Given the description of an element on the screen output the (x, y) to click on. 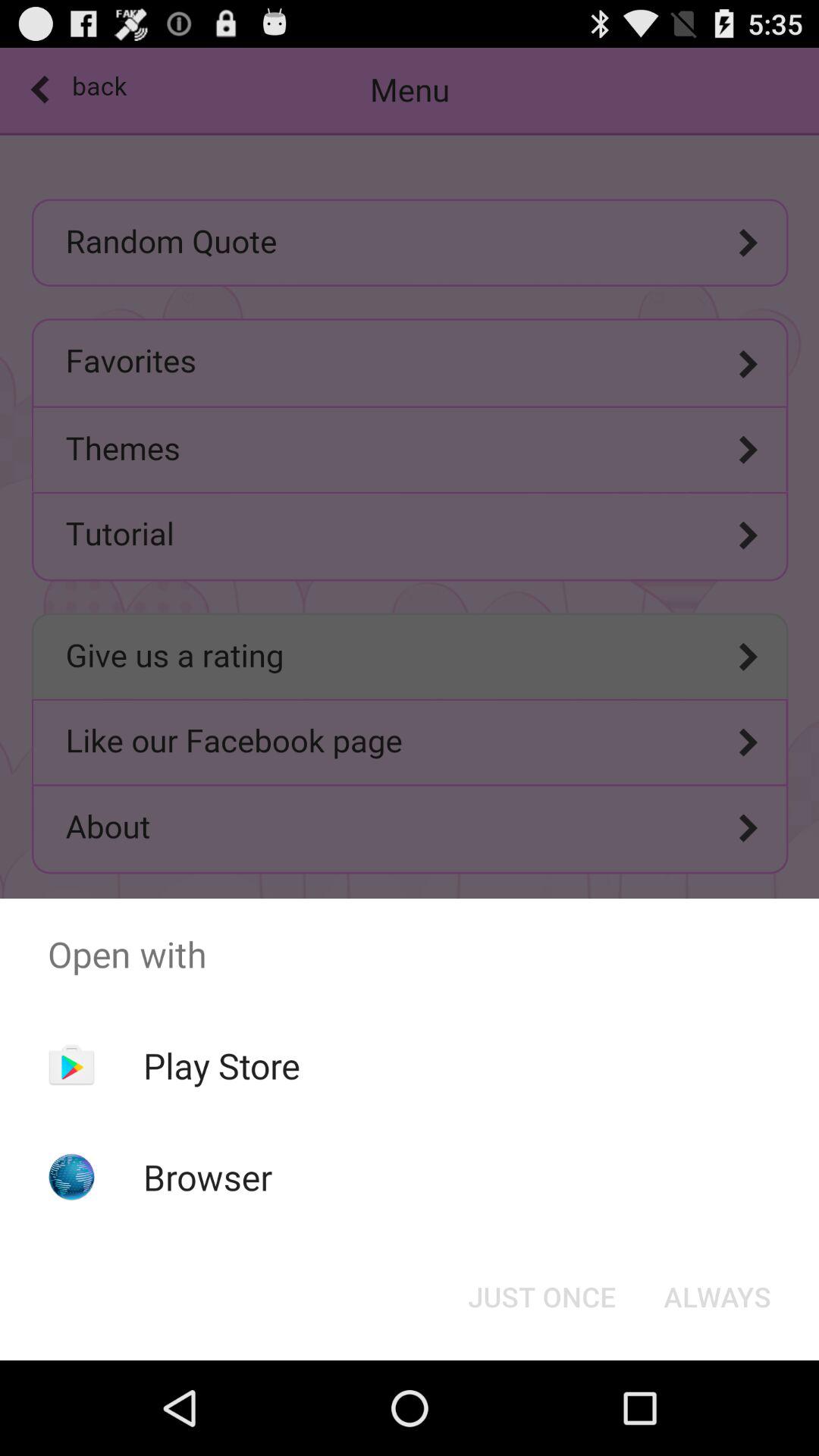
click the button next to just once icon (717, 1296)
